Given the description of an element on the screen output the (x, y) to click on. 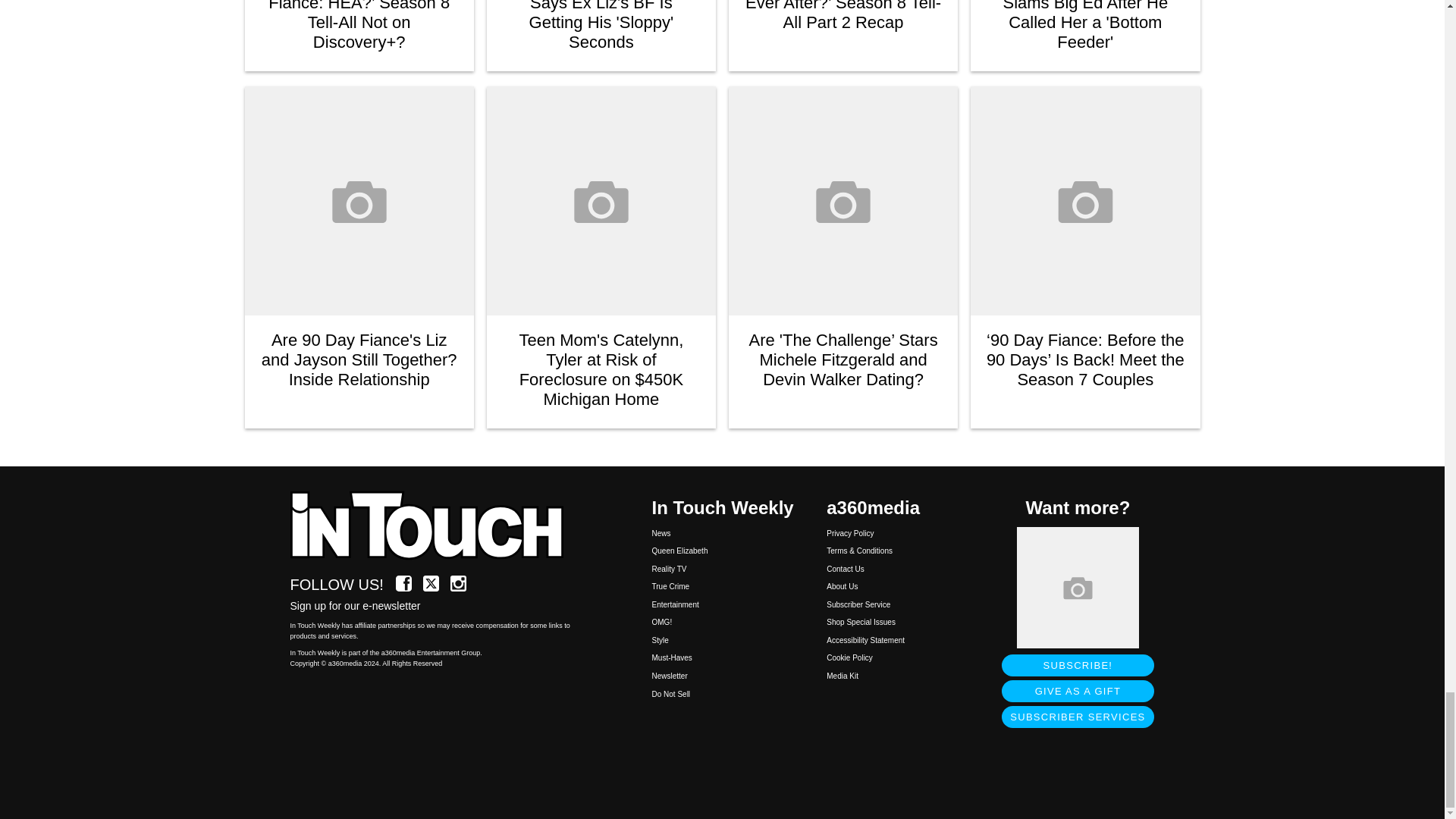
Home (434, 526)
